Given the description of an element on the screen output the (x, y) to click on. 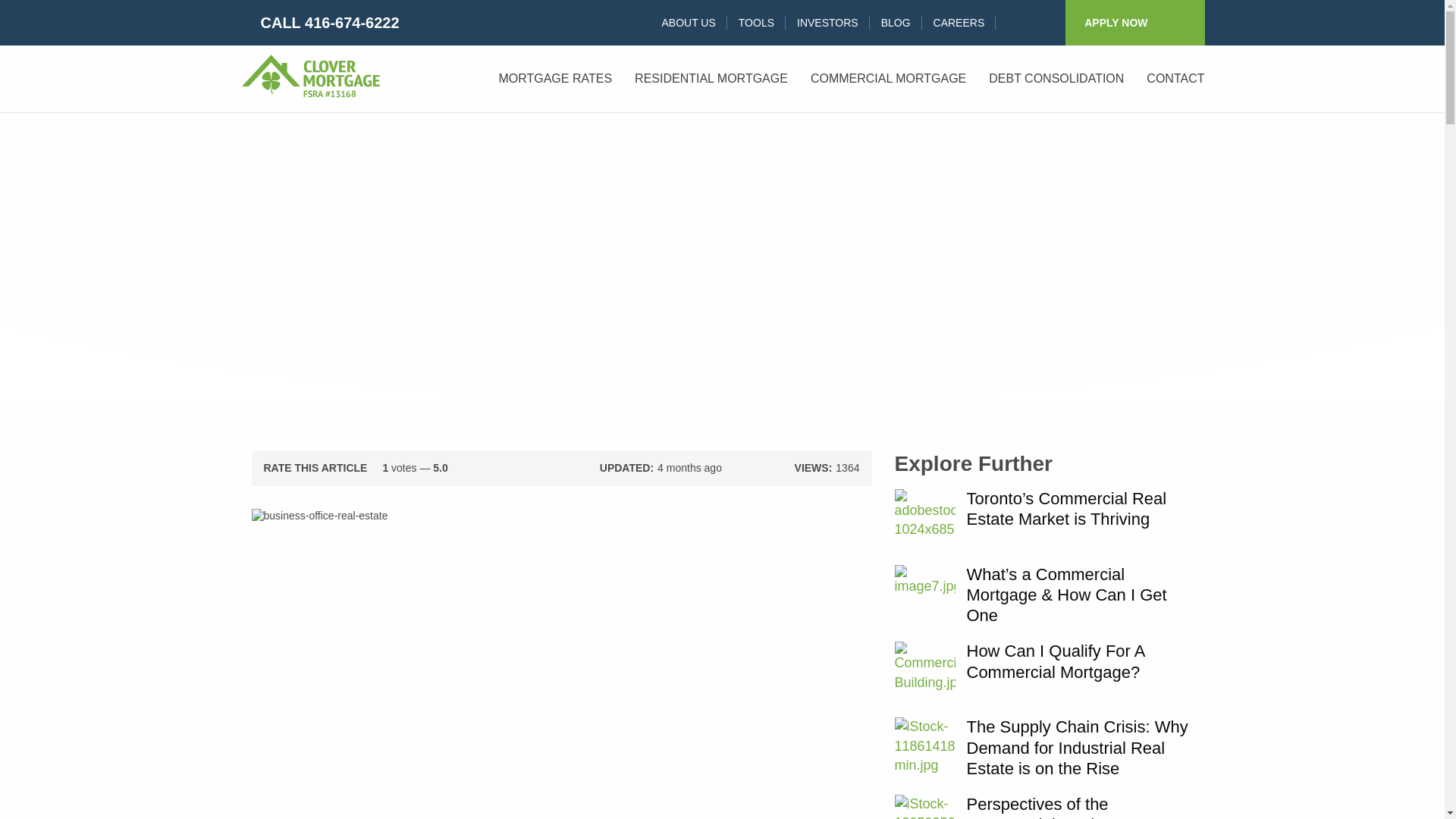
CALL 416-674-6222 (319, 22)
BLOG (895, 22)
COMMERCIAL MORTGAGE (887, 78)
TOOLS (756, 22)
CONTACT (1175, 78)
MORTGAGE RATES (554, 78)
ABOUT US (687, 22)
APPLY NOW (1134, 22)
CAREERS (958, 22)
DEBT CONSOLIDATION (1055, 78)
